Given the description of an element on the screen output the (x, y) to click on. 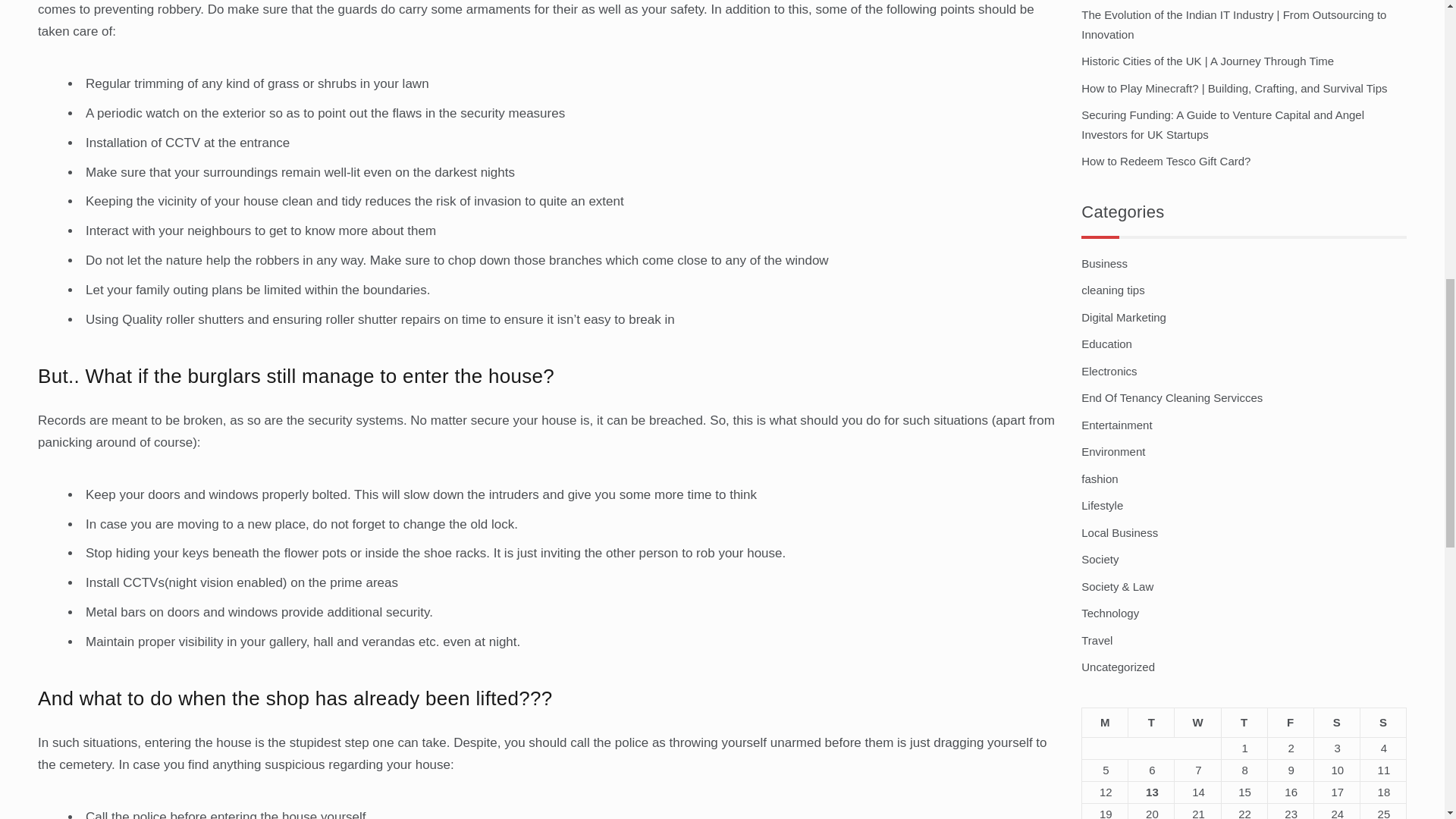
Sunday (1382, 722)
Thursday (1243, 722)
Friday (1289, 722)
Saturday (1336, 722)
Monday (1104, 722)
Wednesday (1197, 722)
Tuesday (1151, 722)
